Given the description of an element on the screen output the (x, y) to click on. 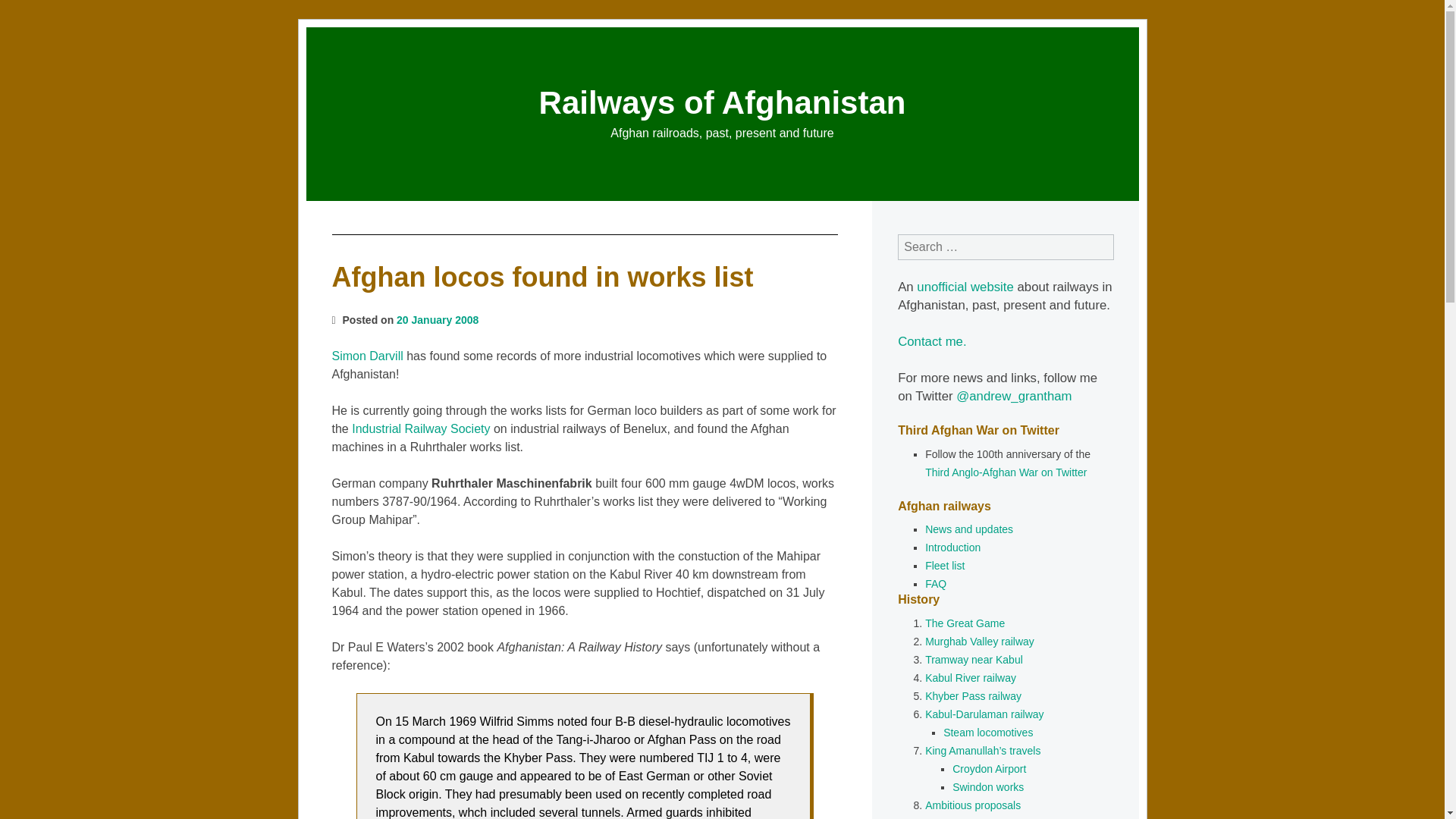
Ambitious proposals (972, 805)
King Amanullah at Croydon Air Port (989, 768)
International plans (967, 818)
The Great Game (964, 623)
Kabul to Darulaman railway (983, 714)
Introduction (951, 547)
King Amanullah in Swindon (987, 787)
Search (27, 11)
Industrial Railway Society (420, 427)
Third Anglo-Afghan War on Twitter (1005, 472)
Khyber Pass railway (973, 695)
Tramway near Kabul (973, 659)
20 January 2008 (437, 319)
Steam locomotives (987, 732)
Swindon works (987, 787)
